Given the description of an element on the screen output the (x, y) to click on. 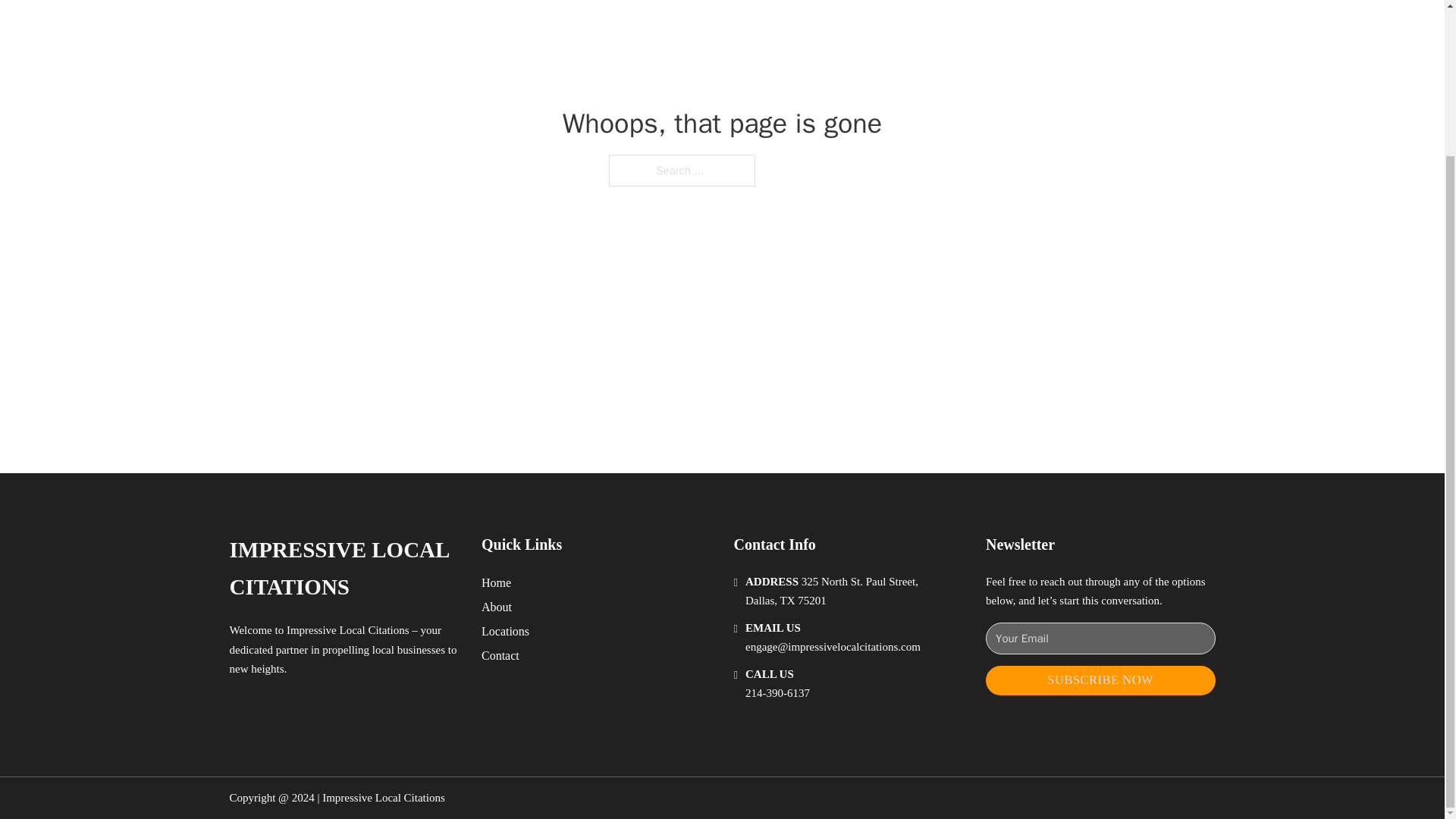
Home (496, 582)
Contact (500, 655)
Locations (505, 630)
About (496, 607)
IMPRESSIVE LOCAL CITATIONS (343, 568)
SUBSCRIBE NOW (1100, 680)
214-390-6137 (777, 693)
